Given the description of an element on the screen output the (x, y) to click on. 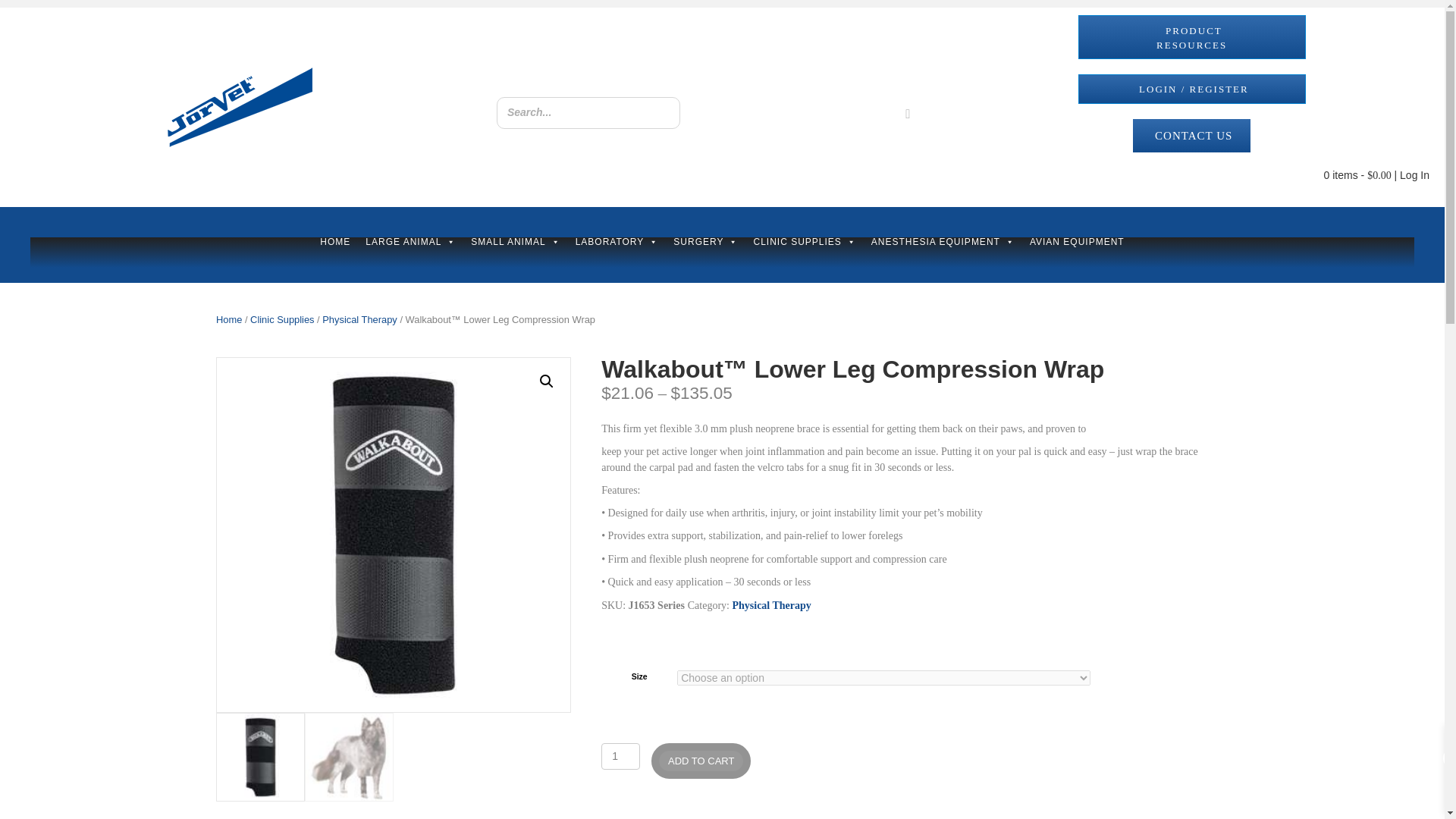
CONTACT US (1191, 135)
HOME (483, 254)
PRODUCT RESOURCES (1192, 36)
LABORATORY (617, 252)
logo22 (239, 107)
1 (620, 755)
J1653 Series (392, 534)
LARGE ANIMAL (526, 254)
SURGERY (705, 252)
SMALL ANIMAL (526, 252)
